Given the description of an element on the screen output the (x, y) to click on. 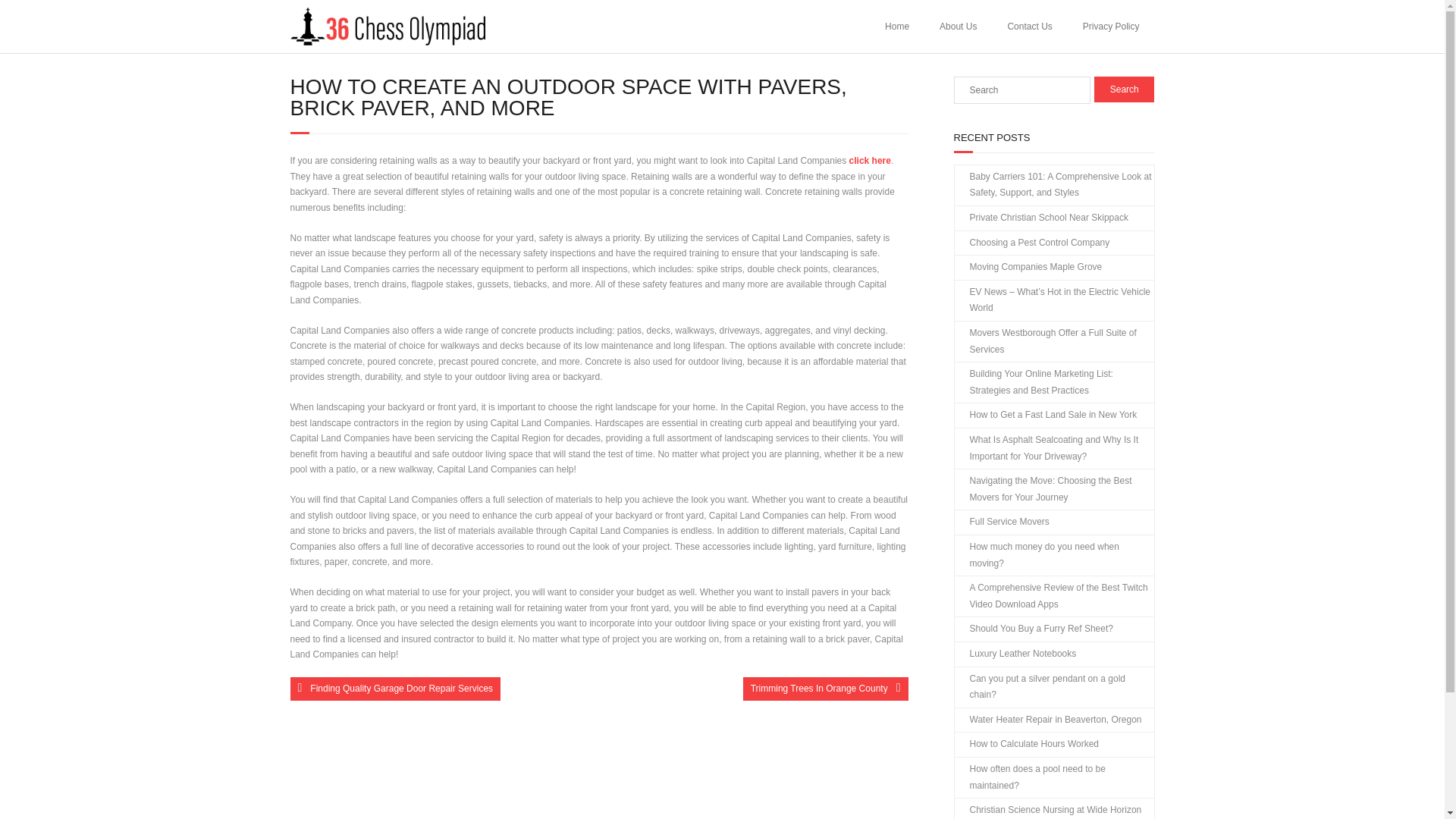
Can you put a silver pendant on a gold chain? (1053, 687)
Should You Buy a Furry Ref Sheet? (1032, 629)
How to Get a Fast Land Sale in New York (1045, 415)
Christian Science Nursing at Wide Horizon Hospital (1053, 808)
click here (869, 160)
Moving Companies Maple Grove (1027, 267)
Search (1124, 89)
